Given the description of an element on the screen output the (x, y) to click on. 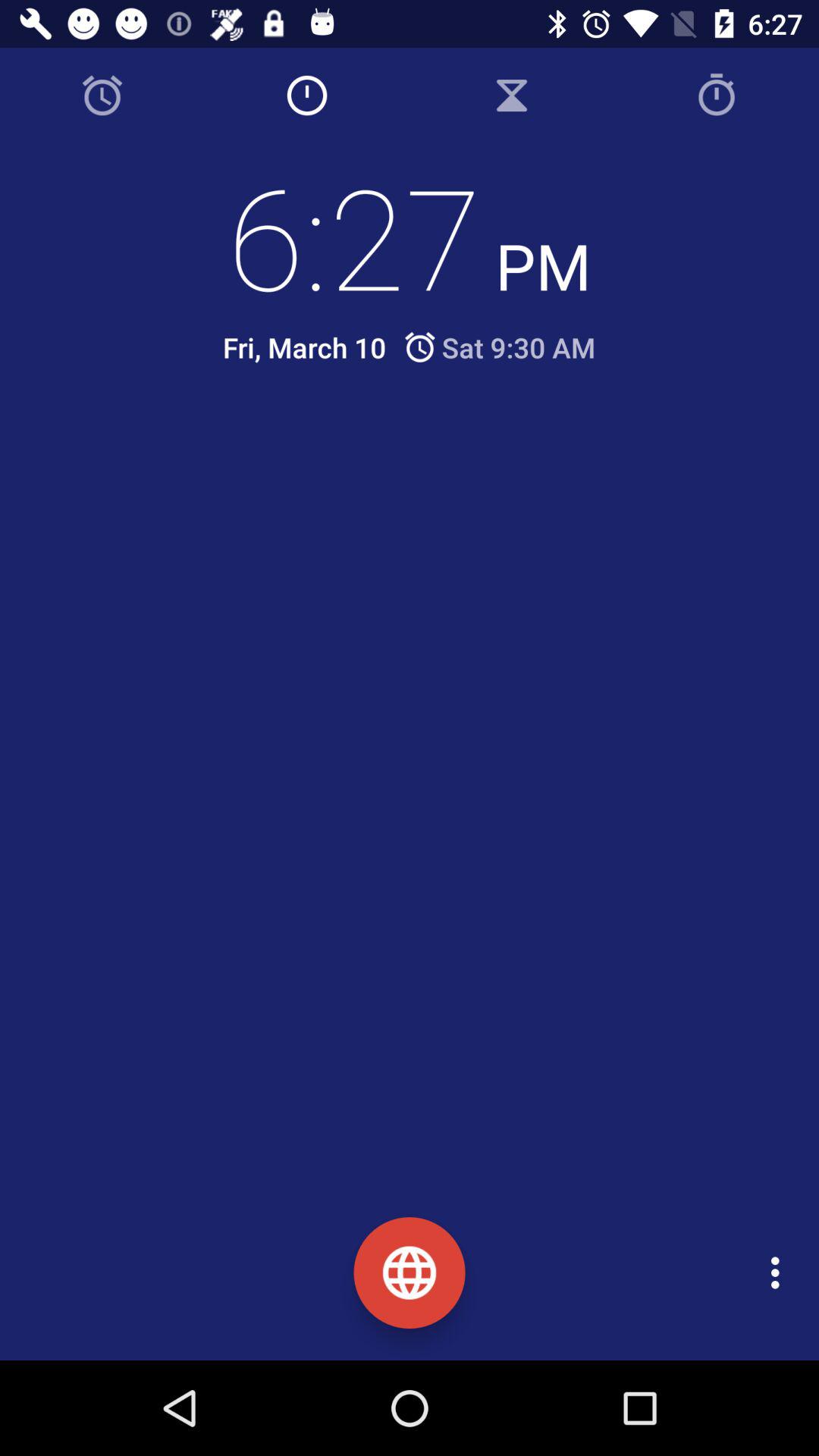
select sat 9 30 item (498, 347)
